Given the description of an element on the screen output the (x, y) to click on. 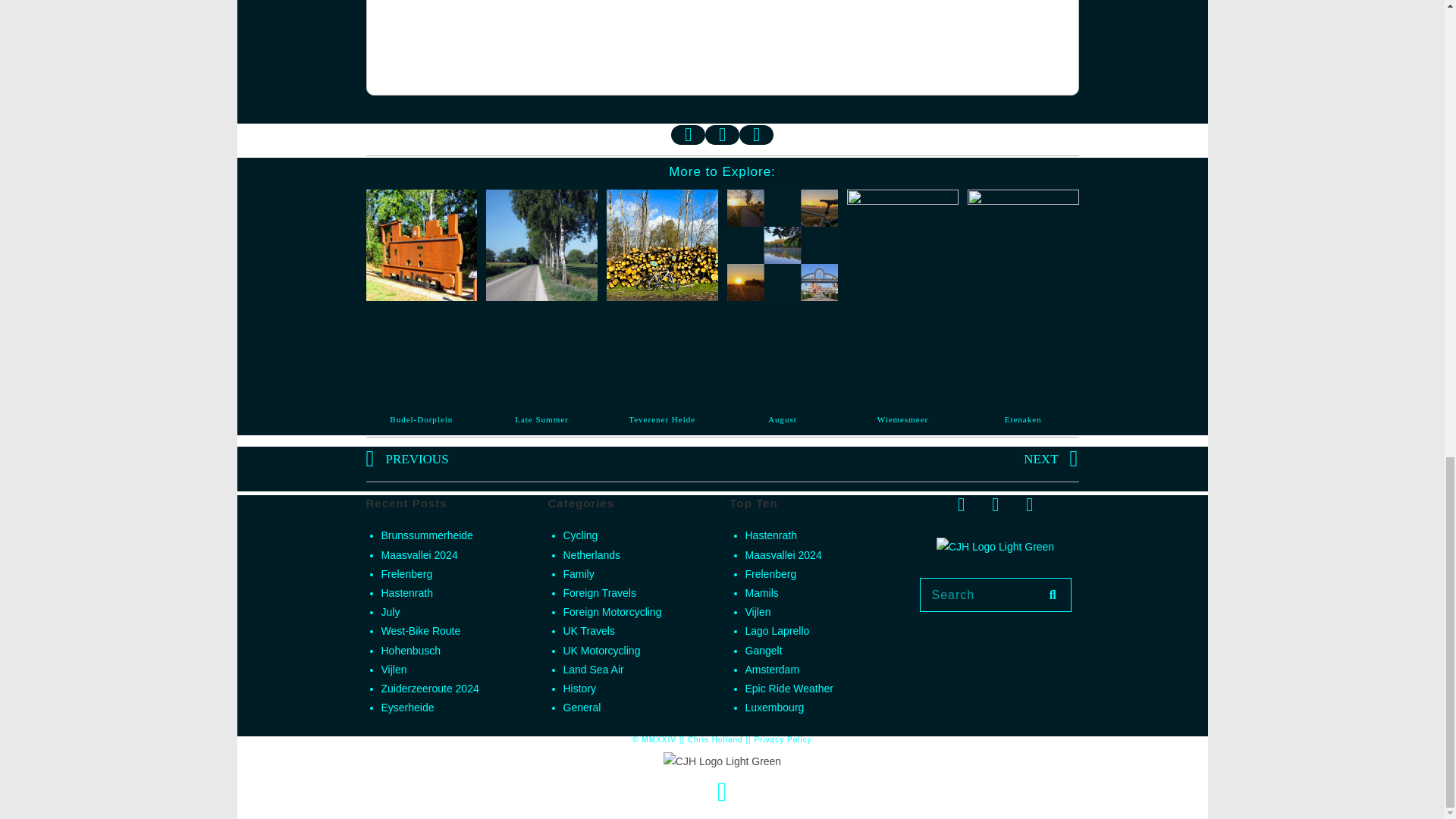
NEXT (900, 458)
Etenaken (1023, 419)
West-Bike Route (420, 630)
Frelenberg (406, 573)
Hastenrath (406, 592)
Late Summer (542, 419)
PREVIOUS (543, 458)
August (782, 419)
Teverener Heide (661, 419)
July (389, 612)
